Given the description of an element on the screen output the (x, y) to click on. 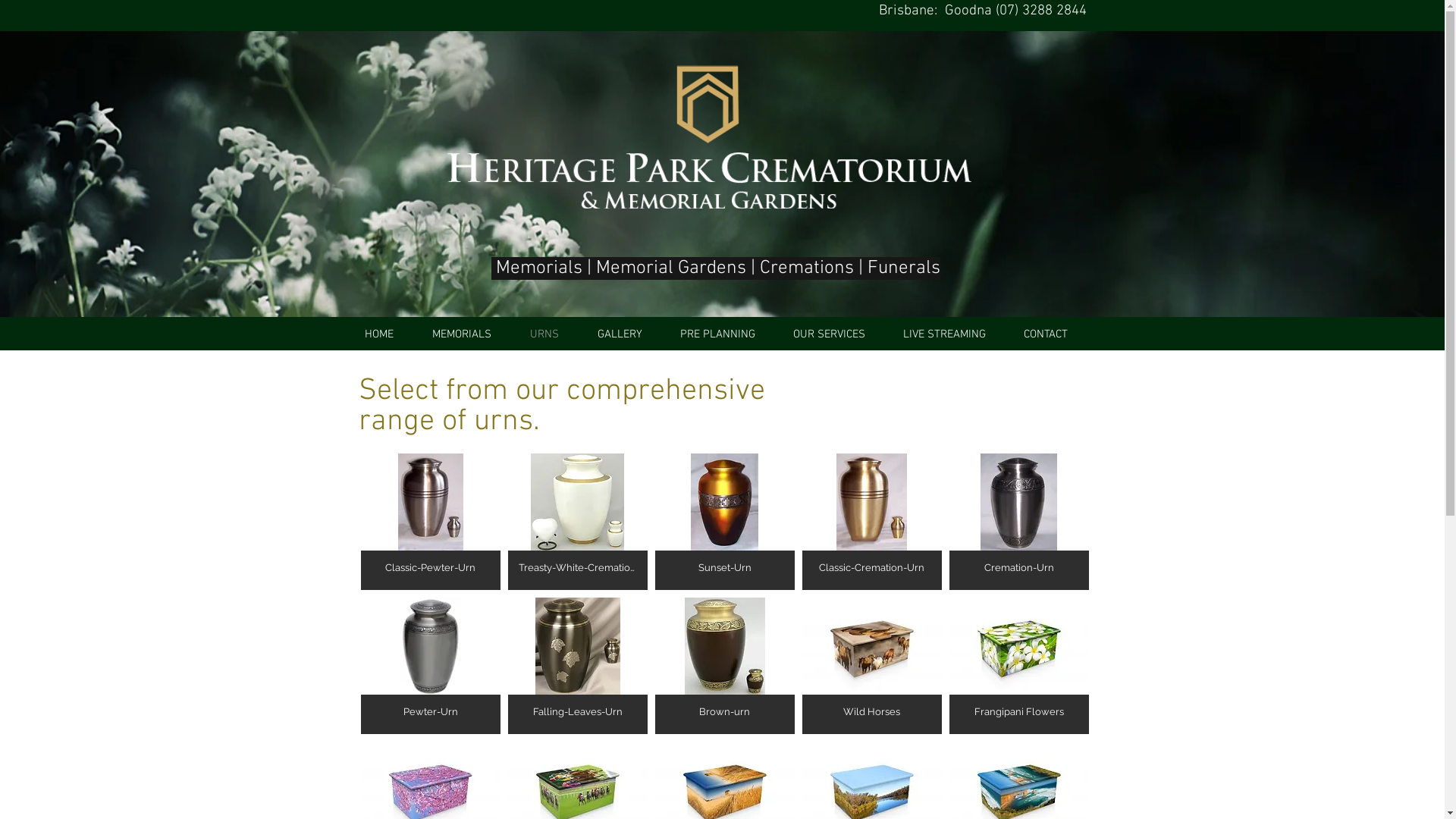
OUR SERVICES Element type: text (836, 334)
LIVE STREAMING Element type: text (951, 334)
HOME Element type: text (386, 334)
PRE PLANNING Element type: text (724, 334)
URNS Element type: text (552, 334)
HeritagelogocolourREV.png Element type: hover (709, 136)
GALLERY Element type: text (626, 334)
CONTACT Element type: text (1052, 334)
MEMORIALS Element type: text (468, 334)
